Given the description of an element on the screen output the (x, y) to click on. 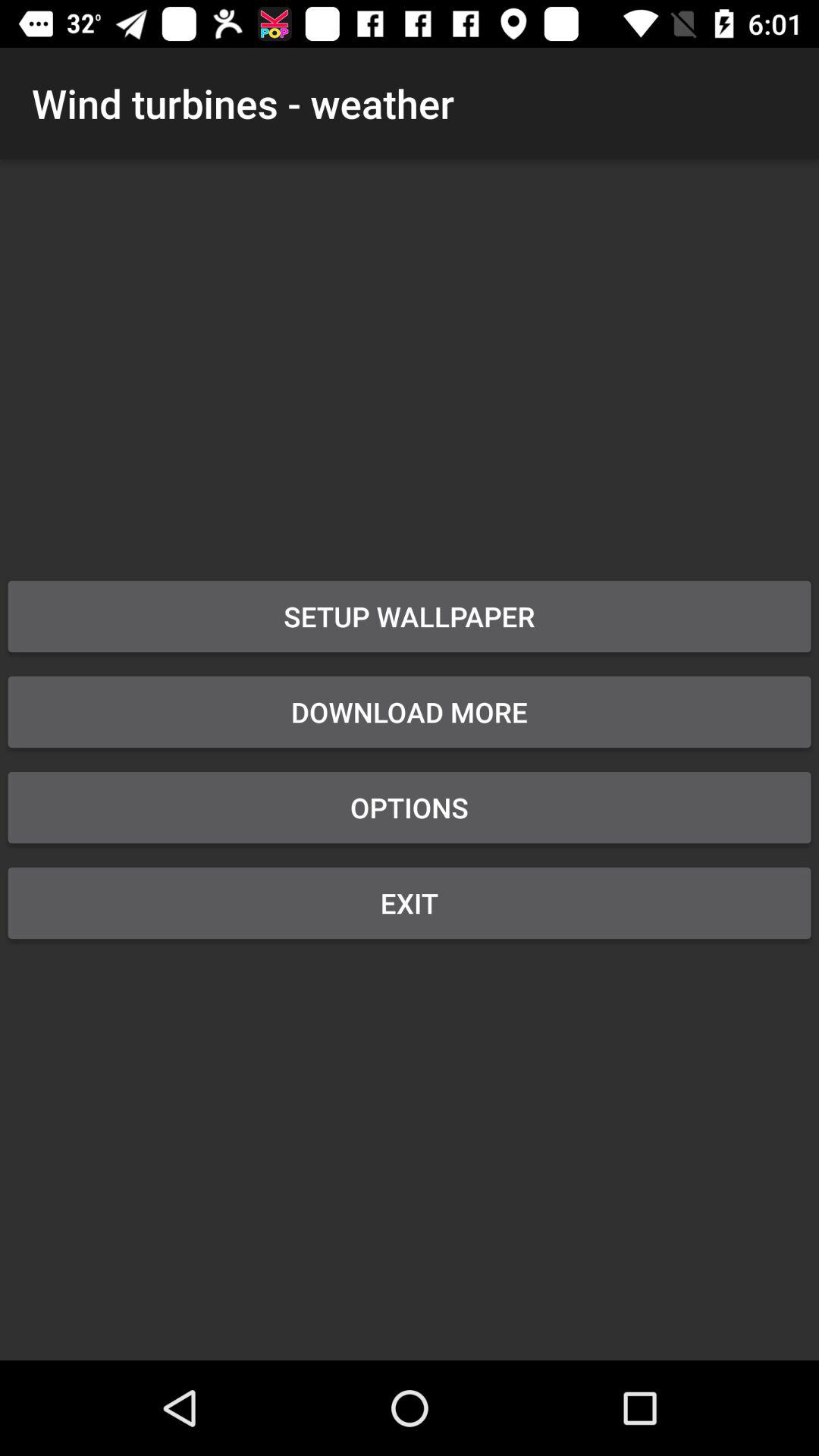
press the item below options icon (409, 902)
